Given the description of an element on the screen output the (x, y) to click on. 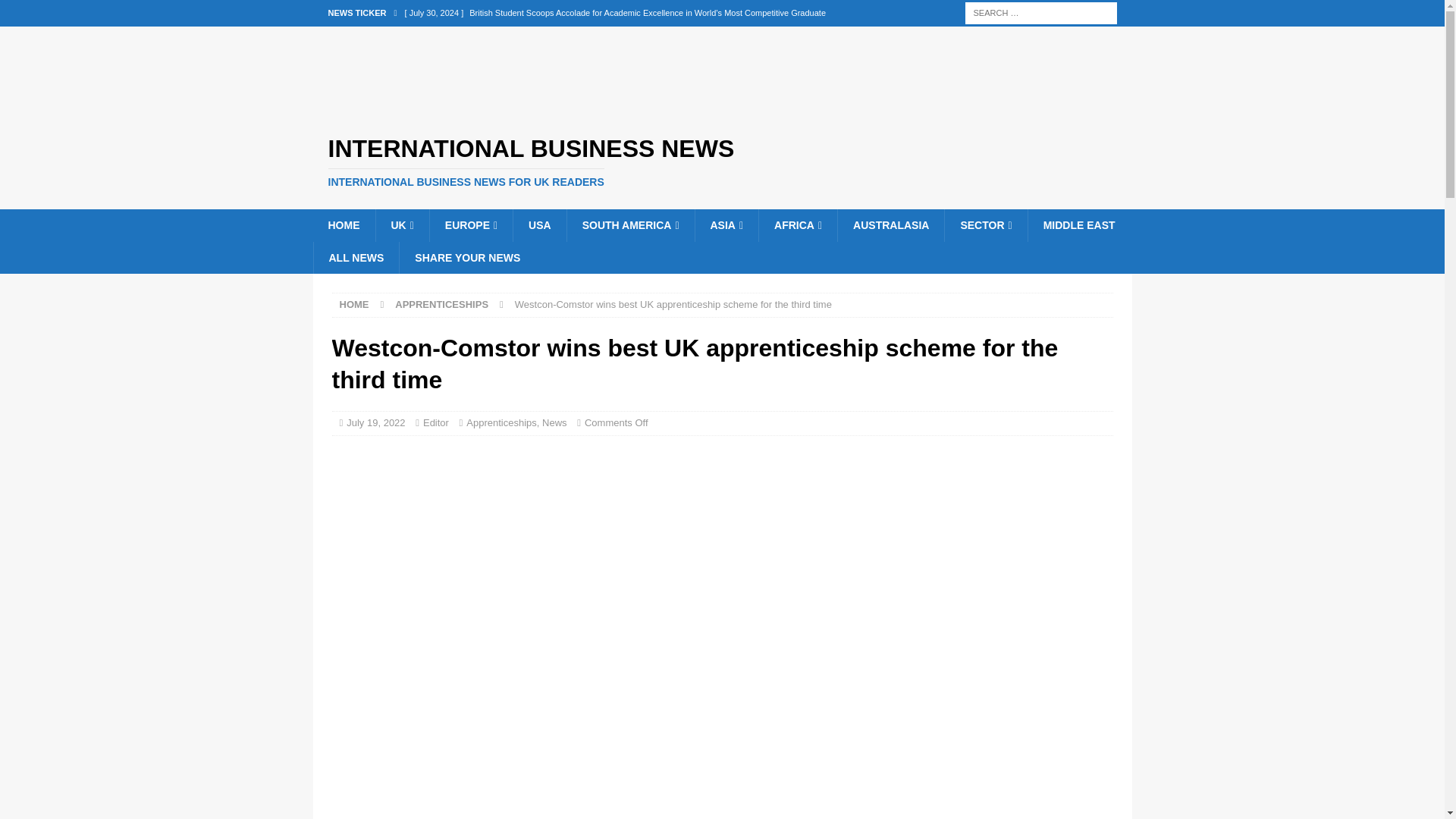
EUROPE (470, 224)
ASIA (726, 224)
International Business News (721, 162)
HOME (343, 224)
UK (401, 224)
Search (56, 11)
AFRICA (797, 224)
SOUTH AMERICA (630, 224)
AUSTRALASIA (890, 224)
SECTOR (984, 224)
USA (539, 224)
